Given the description of an element on the screen output the (x, y) to click on. 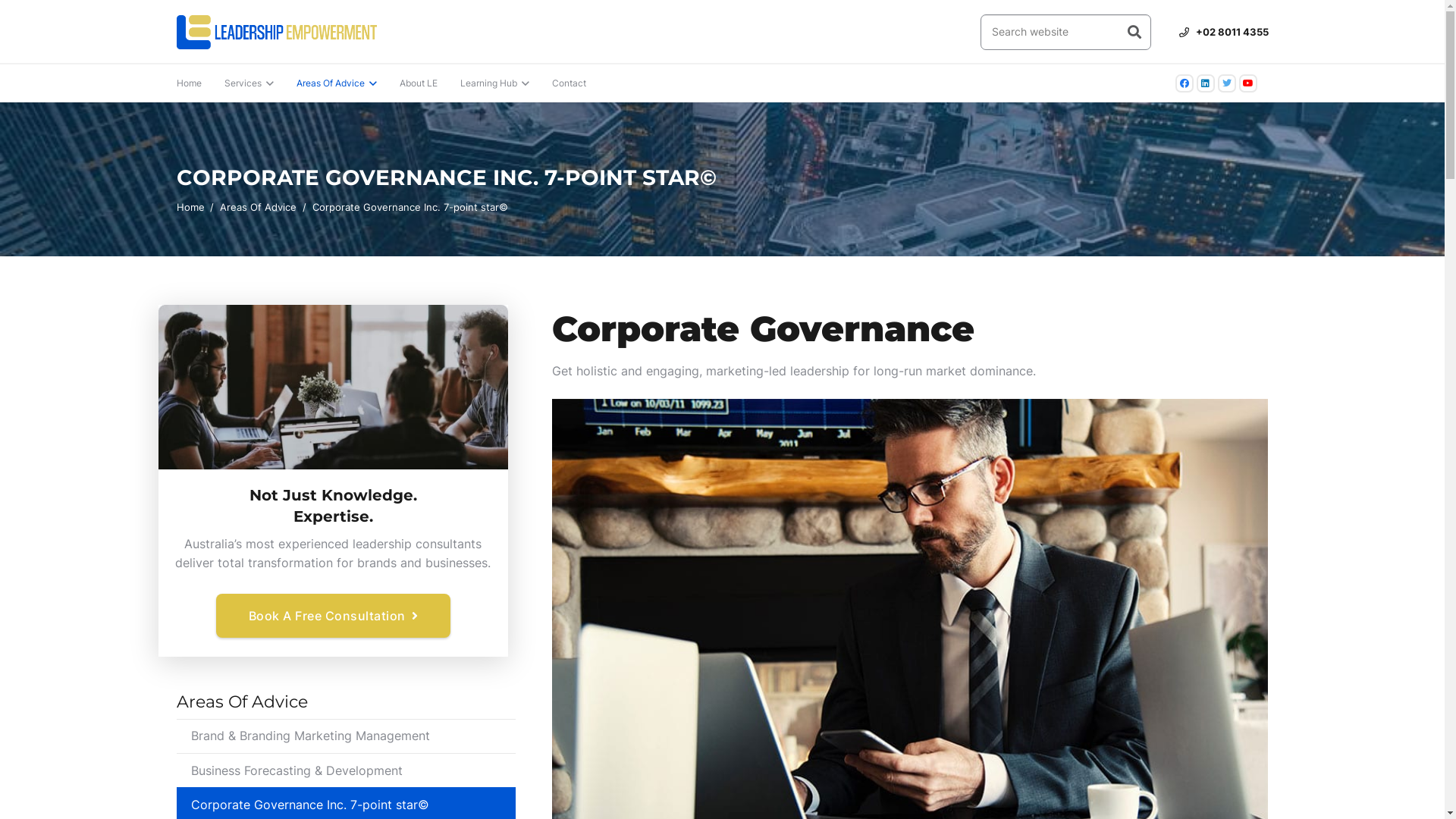
Areas Of Advice Element type: text (257, 206)
Home Element type: text (189, 206)
Learning Hub Element type: text (494, 83)
Services Element type: text (248, 83)
Facebook Element type: hover (1184, 83)
LinkedIn Element type: hover (1205, 83)
Book A Free Consultation Element type: text (333, 615)
Twitter Element type: hover (1226, 83)
About LE Element type: text (418, 83)
Areas Of Advice Element type: text (336, 83)
+02 8011 4355 Element type: text (1223, 31)
YouTube Element type: hover (1248, 83)
Contact Element type: text (568, 83)
Brand & Branding Marketing Management Element type: text (345, 735)
Home Element type: text (189, 83)
Business Forecasting & Development Element type: text (345, 770)
